Given the description of an element on the screen output the (x, y) to click on. 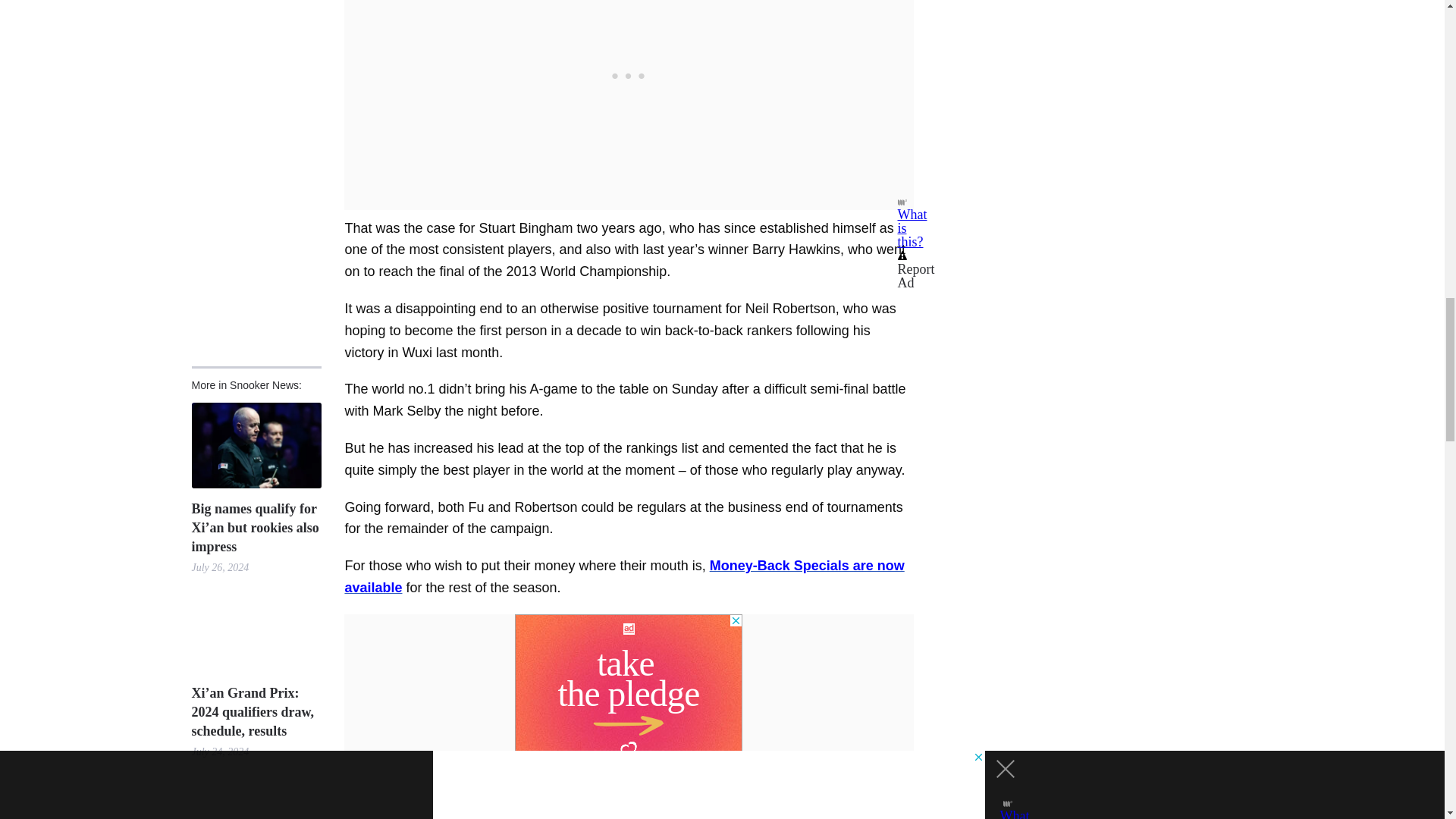
3rd party ad content (628, 708)
